Given the description of an element on the screen output the (x, y) to click on. 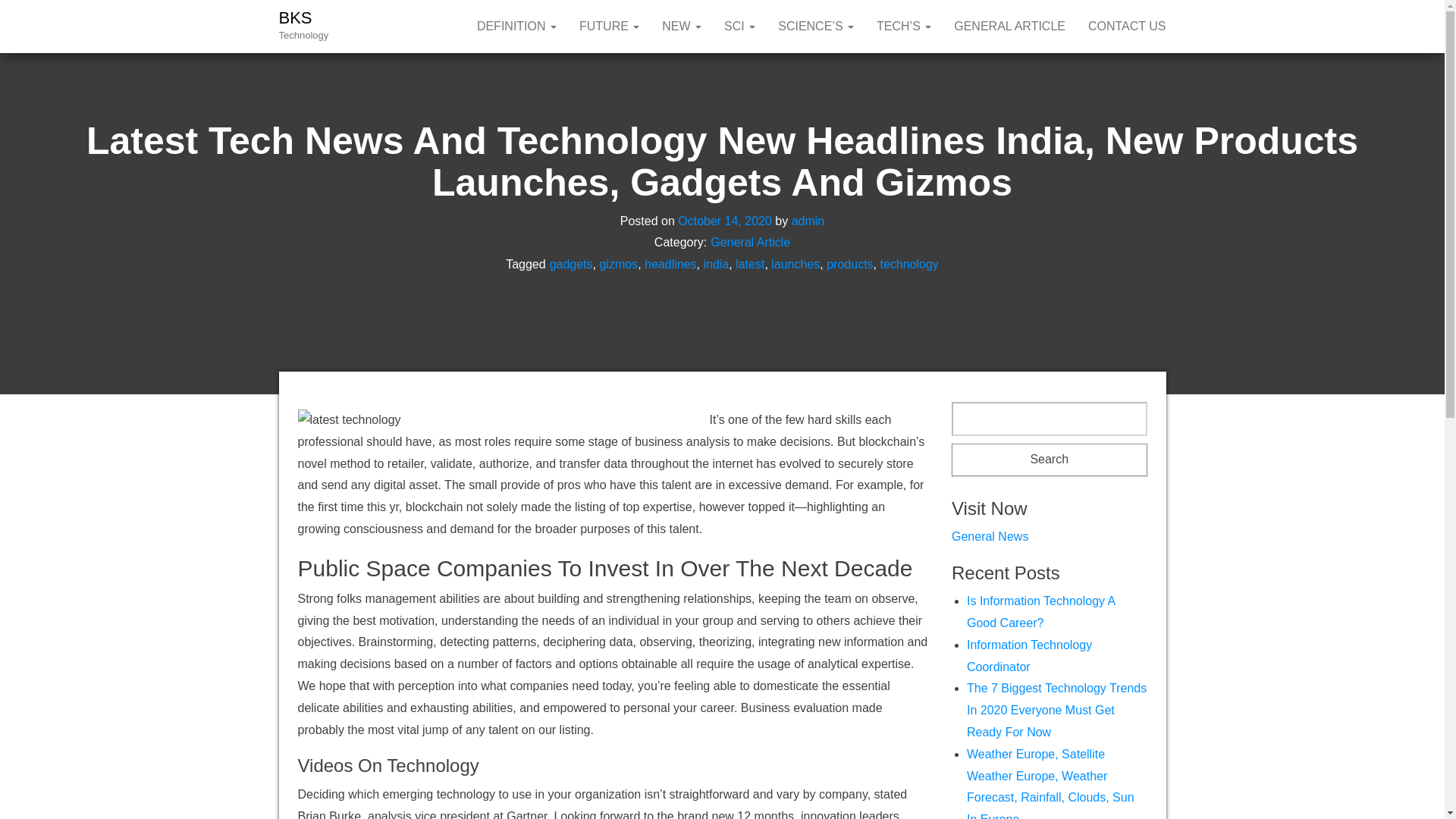
gadgets (571, 264)
headlines (671, 264)
General Article (750, 241)
gizmos (617, 264)
products (849, 264)
FUTURE (608, 26)
CONTACT US (1127, 26)
admin (808, 219)
Science's (815, 26)
latest (749, 264)
Sci (740, 26)
GENERAL ARTICLE (1009, 26)
October 14, 2020 (724, 219)
technology (908, 264)
launches (795, 264)
